Given the description of an element on the screen output the (x, y) to click on. 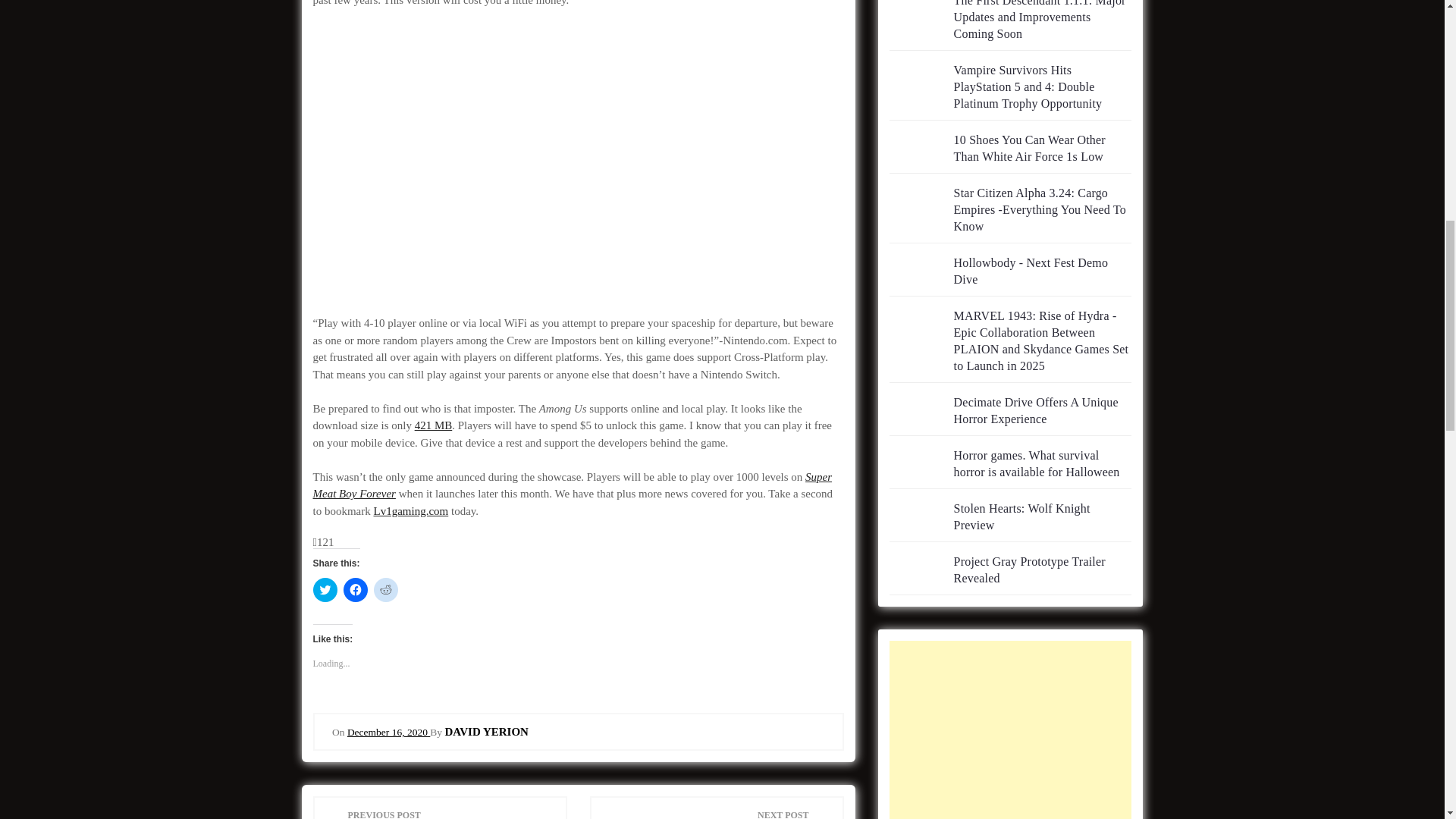
Super Meat Boy Forever (572, 485)
Lv1gaming.com (410, 510)
10 Shoes You Can Wear Other Than White Air Force 1s Low (1029, 147)
421 MB (433, 425)
Click to share on Reddit (384, 589)
DAVID YERION (485, 731)
Click to share on Facebook (354, 589)
December 16, 2020 (388, 731)
